Given the description of an element on the screen output the (x, y) to click on. 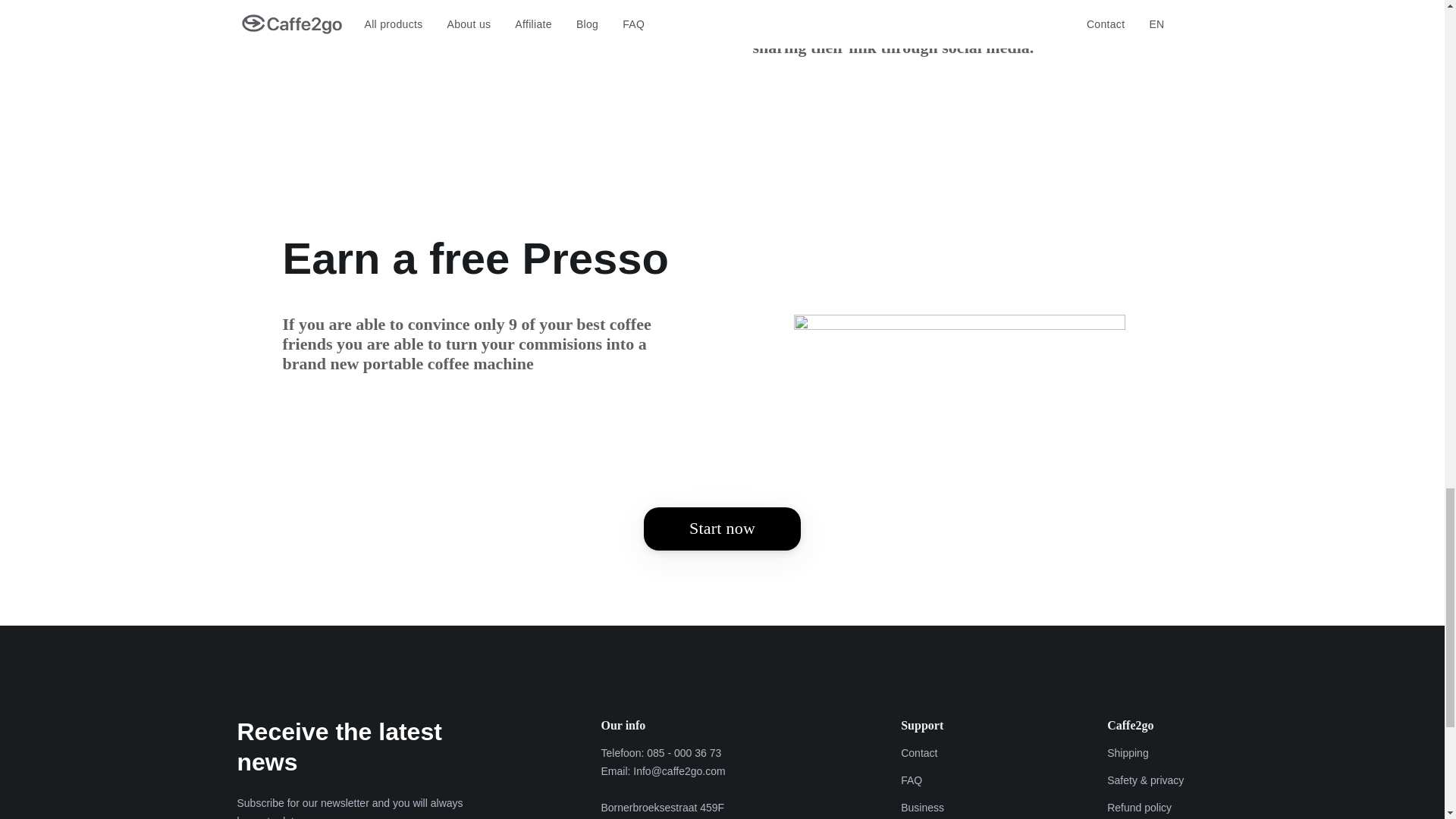
Shipping (1156, 752)
Contact (922, 752)
Business (922, 806)
FAQ (922, 779)
Refund policy (1156, 806)
